Given the description of an element on the screen output the (x, y) to click on. 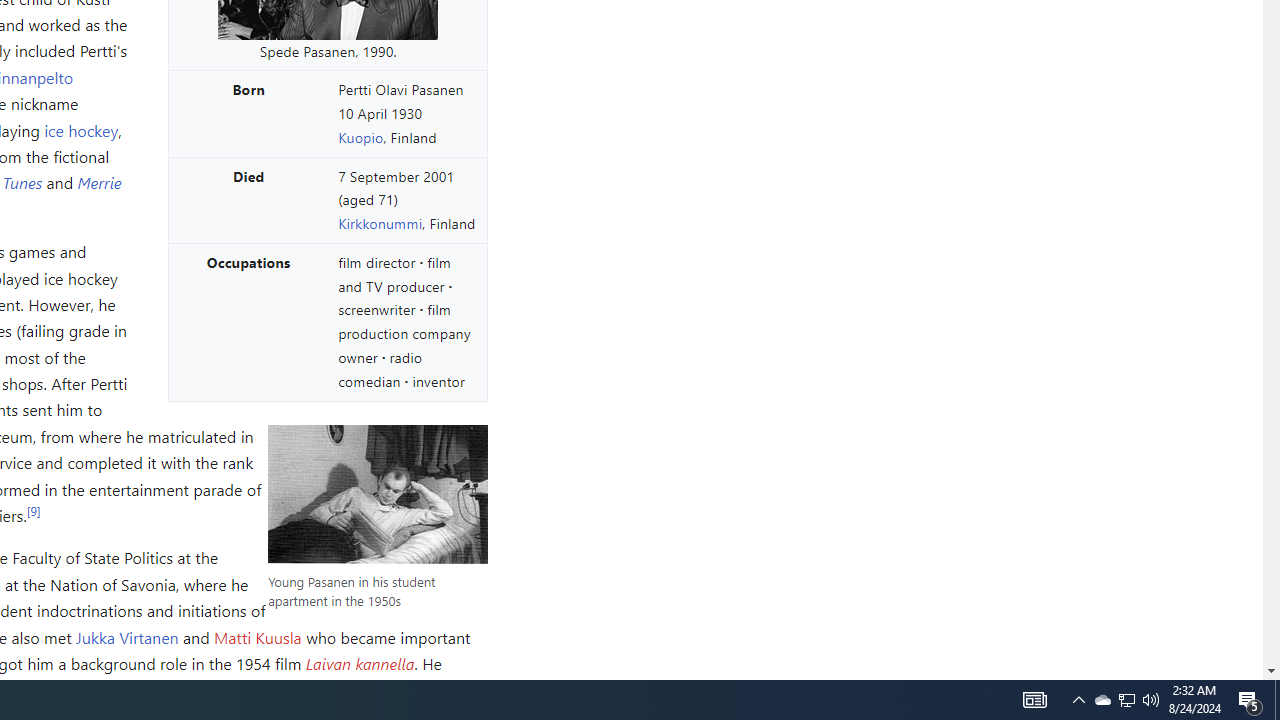
Jukka Virtanen (127, 636)
Laivan kannella (359, 662)
Kirkkonummi (379, 223)
Matti Kuusla (257, 636)
[9] (32, 510)
Kuopio (360, 135)
ice hockey (81, 129)
